Given the description of an element on the screen output the (x, y) to click on. 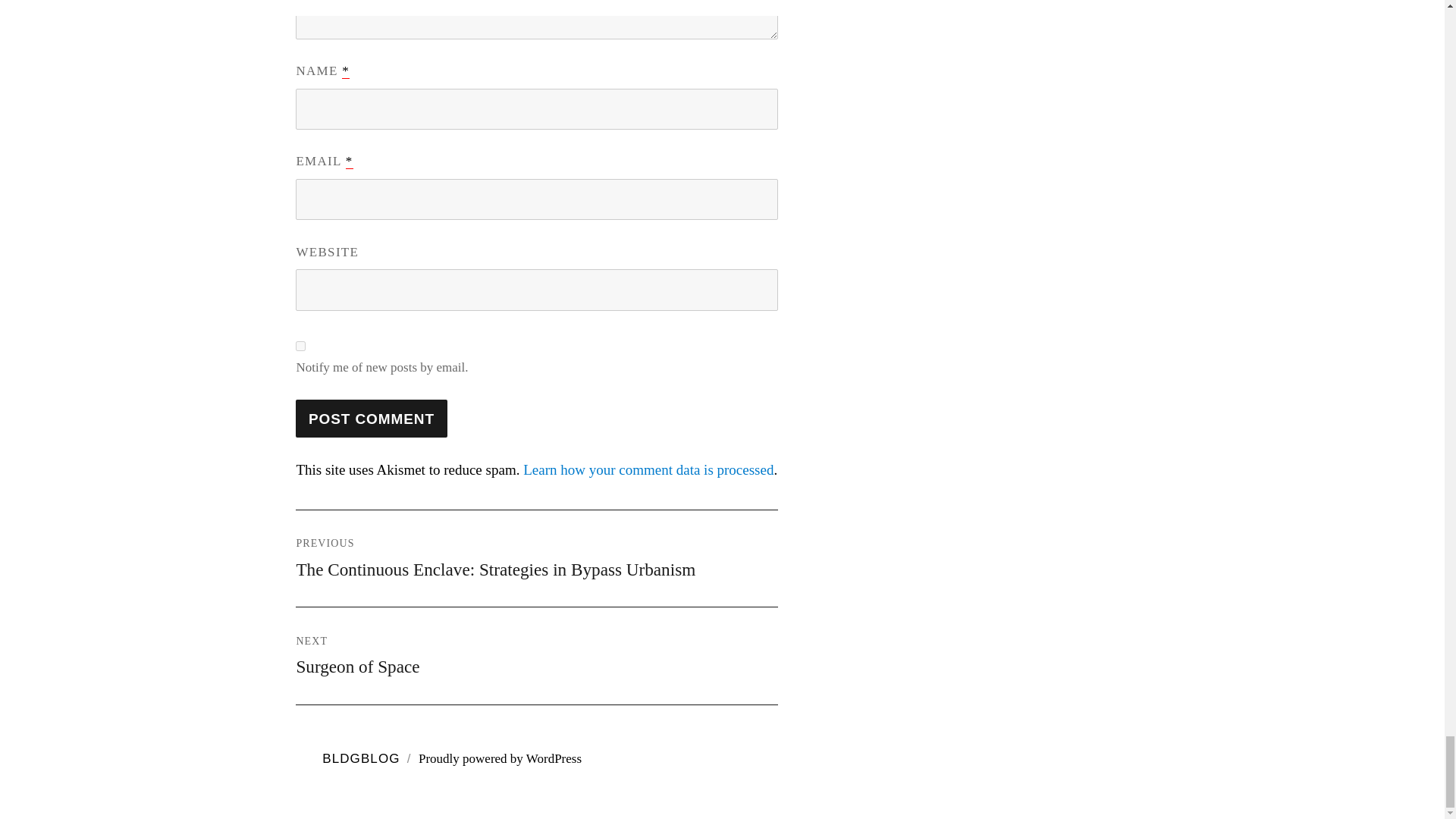
Post Comment (370, 418)
subscribe (300, 346)
